Given the description of an element on the screen output the (x, y) to click on. 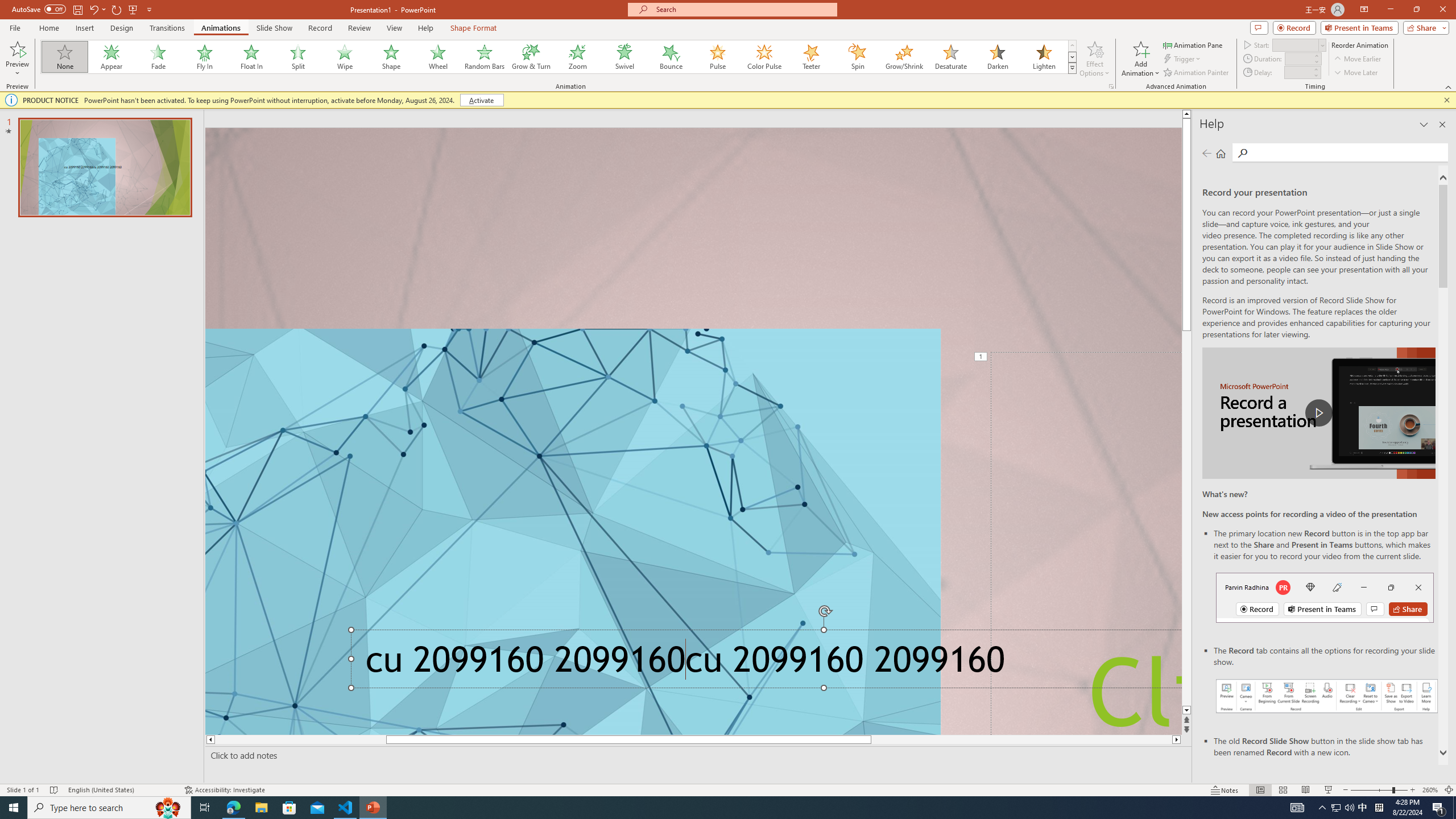
Wheel (437, 56)
